Given the description of an element on the screen output the (x, y) to click on. 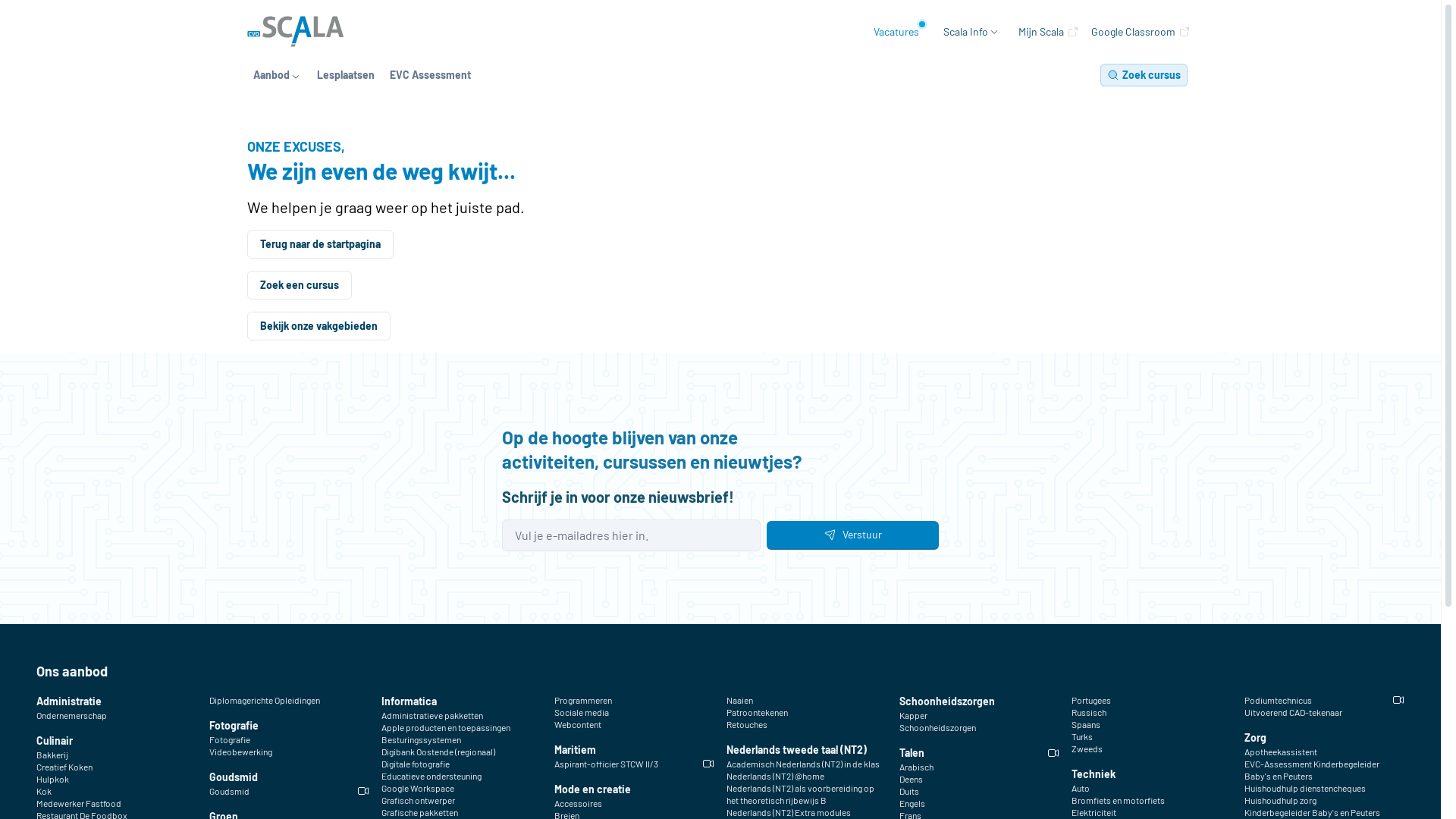
Hulpkok Element type: text (52, 778)
Uitvoerend CAD-tekenaar Element type: text (1292, 712)
Bekijk onze vakgebieden Element type: text (318, 325)
Educatieve ondersteuning Element type: text (431, 775)
Administratieve pakketten Element type: text (432, 715)
Webcontent Element type: text (576, 724)
Videobewerking Element type: text (240, 751)
Patroontekenen Element type: text (756, 712)
Grafische pakketten Element type: text (419, 812)
Programmeren Element type: text (582, 699)
Grafisch ontwerper Element type: text (418, 799)
Sociale media Element type: text (580, 712)
Huishoudhulp dienstencheques Element type: text (1304, 787)
Vacatures Element type: text (896, 31)
Auto Element type: text (1080, 787)
Nederlands tweede taal (NT2) Element type: text (796, 749)
Techniek Element type: text (1093, 773)
Verstuur Element type: text (852, 534)
Zorg Element type: text (1254, 737)
Nederlands (NT2) Extra modules Element type: text (788, 812)
Google Classroom Element type: text (1140, 31)
Naaien Element type: text (739, 699)
Academisch Nederlands (NT2) in de klas Element type: text (802, 763)
Aanbod Element type: text (277, 74)
Duits Element type: text (909, 790)
Kapper Element type: text (913, 715)
Elektriciteit Element type: text (1093, 812)
Deens Element type: text (910, 778)
Huishoudhulp zorg Element type: text (1279, 799)
Culinair Element type: text (54, 740)
Spaans Element type: text (1085, 724)
Apotheekassistent Element type: text (1279, 751)
Mode en creatie Element type: text (591, 789)
Aspirant-officier STCW II/3 Element type: text (605, 763)
Google Workspace Element type: text (417, 787)
Zweeds Element type: text (1086, 748)
Informatica Element type: text (408, 701)
Fotografie Element type: text (233, 725)
Arabisch Element type: text (916, 766)
Russisch Element type: text (1088, 712)
Apple producten en toepassingen Element type: text (445, 727)
Digitale fotografie Element type: text (415, 763)
Talen Element type: text (911, 752)
EVC Assessment Element type: text (429, 74)
Digibank Oostende (regionaal) Element type: text (438, 751)
Medewerker Fastfood Element type: text (78, 803)
Portugees Element type: text (1090, 699)
Schoonheidszorgen Element type: text (937, 727)
Engels Element type: text (912, 803)
Schoonheidszorgen Element type: text (946, 701)
Goudsmid Element type: text (229, 790)
Lesplaatsen Element type: text (345, 74)
Kok Element type: text (43, 790)
Diplomagerichte Opleidingen Element type: text (264, 699)
Mijn Scala Element type: text (1048, 31)
Terug naar de startpagina Element type: text (320, 243)
Turks Element type: text (1081, 736)
Fotografie Element type: text (229, 739)
Maritiem Element type: text (574, 749)
EVC-Assessment Kinderbegeleider Baby's en Peuters Element type: text (1323, 769)
Creatief Koken Element type: text (64, 766)
Retouches Element type: text (746, 724)
Podiumtechnicus Element type: text (1277, 699)
Accessoires Element type: text (577, 803)
Nederlands (NT2) @home Element type: text (775, 775)
Bakkerij Element type: text (52, 754)
Zoek een cursus Element type: text (299, 284)
Ondernemerschap Element type: text (71, 715)
Kinderbegeleider Baby's en Peuters Element type: text (1311, 812)
Goudsmid Element type: text (233, 776)
Bromfiets en motorfiets Element type: text (1117, 799)
Administratie Element type: text (68, 701)
Besturingssystemen Element type: text (421, 739)
